Given the description of an element on the screen output the (x, y) to click on. 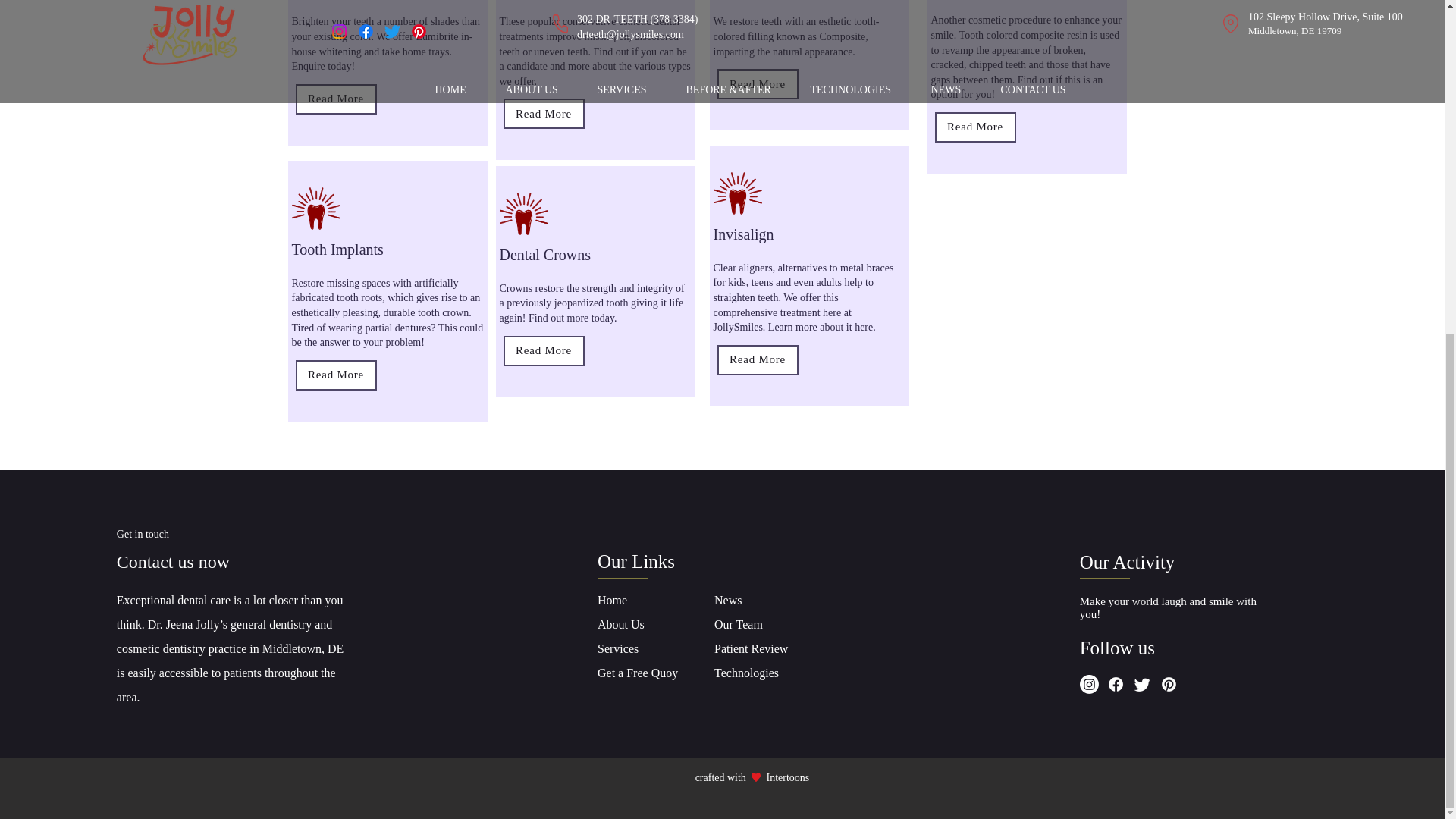
About Us  (621, 624)
Read More (757, 83)
Technologies (746, 672)
Read More (757, 359)
Intertoons (787, 777)
Read More (336, 99)
Patient Review (750, 648)
Read More (544, 113)
Our Team  (739, 624)
Home (611, 599)
